Given the description of an element on the screen output the (x, y) to click on. 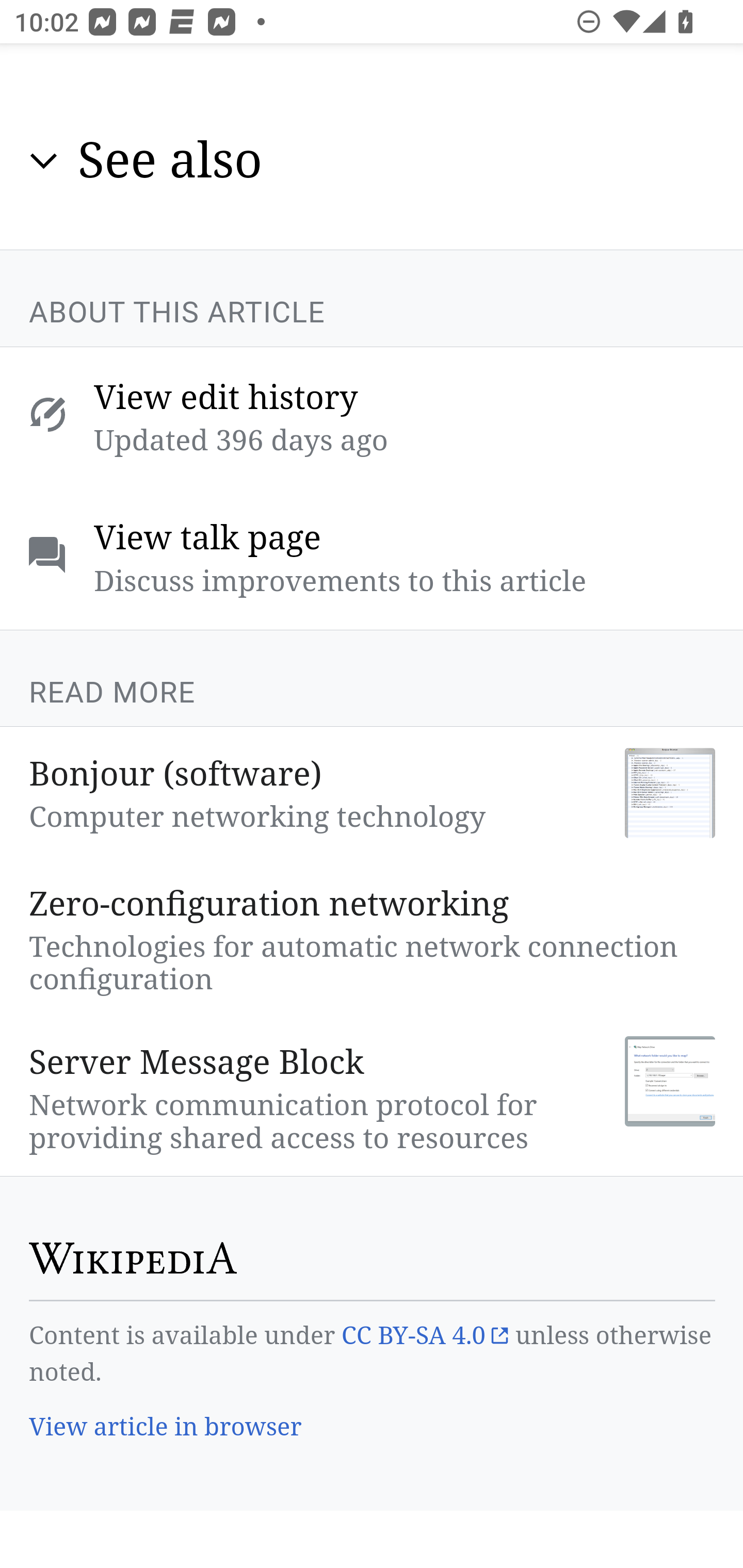
Expand section See also (372, 162)
Expand section (43, 161)
CC BY-SA 4.0 (423, 1336)
View article in browser (165, 1428)
